Given the description of an element on the screen output the (x, y) to click on. 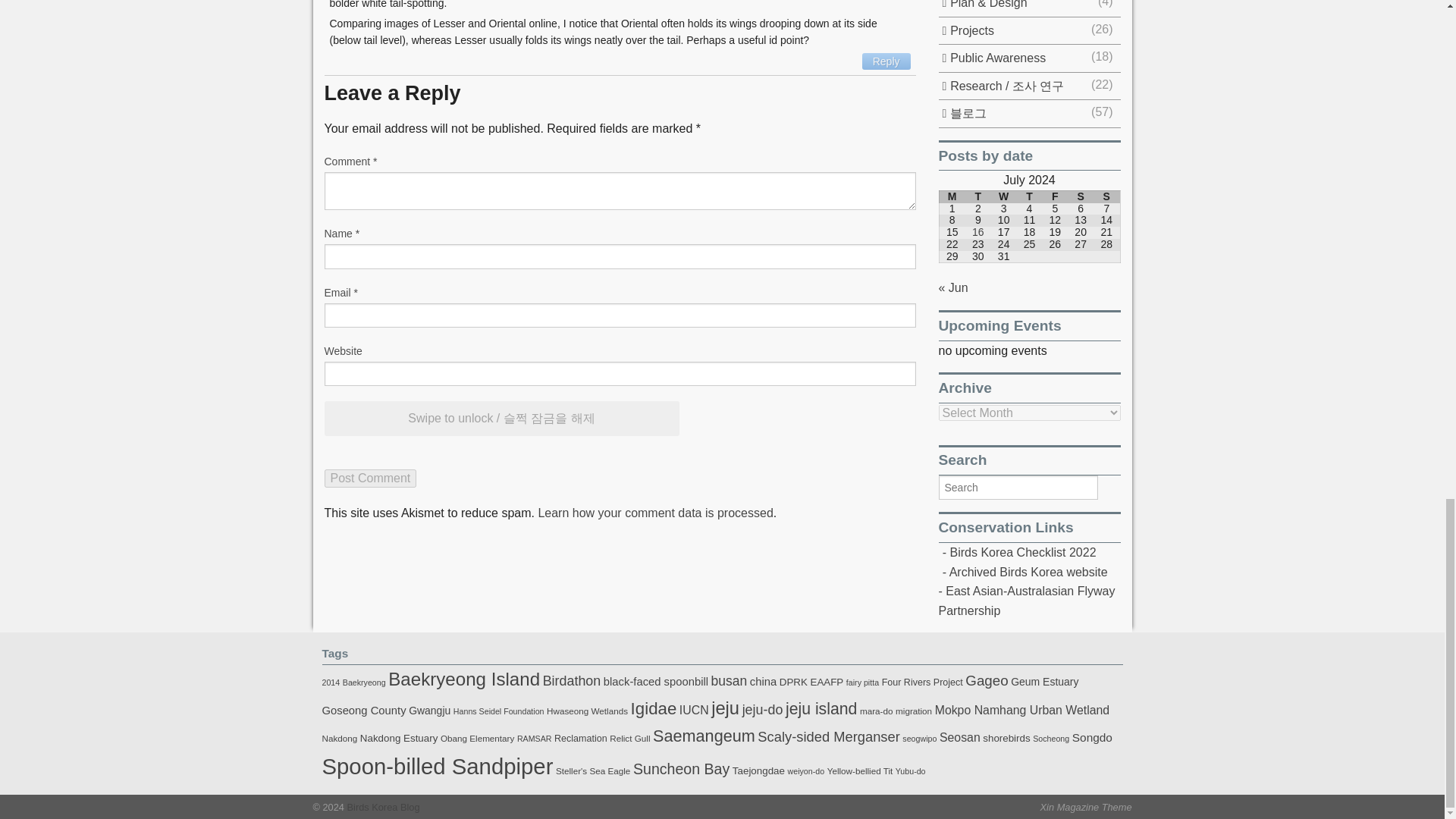
Post Comment (370, 478)
